Given the description of an element on the screen output the (x, y) to click on. 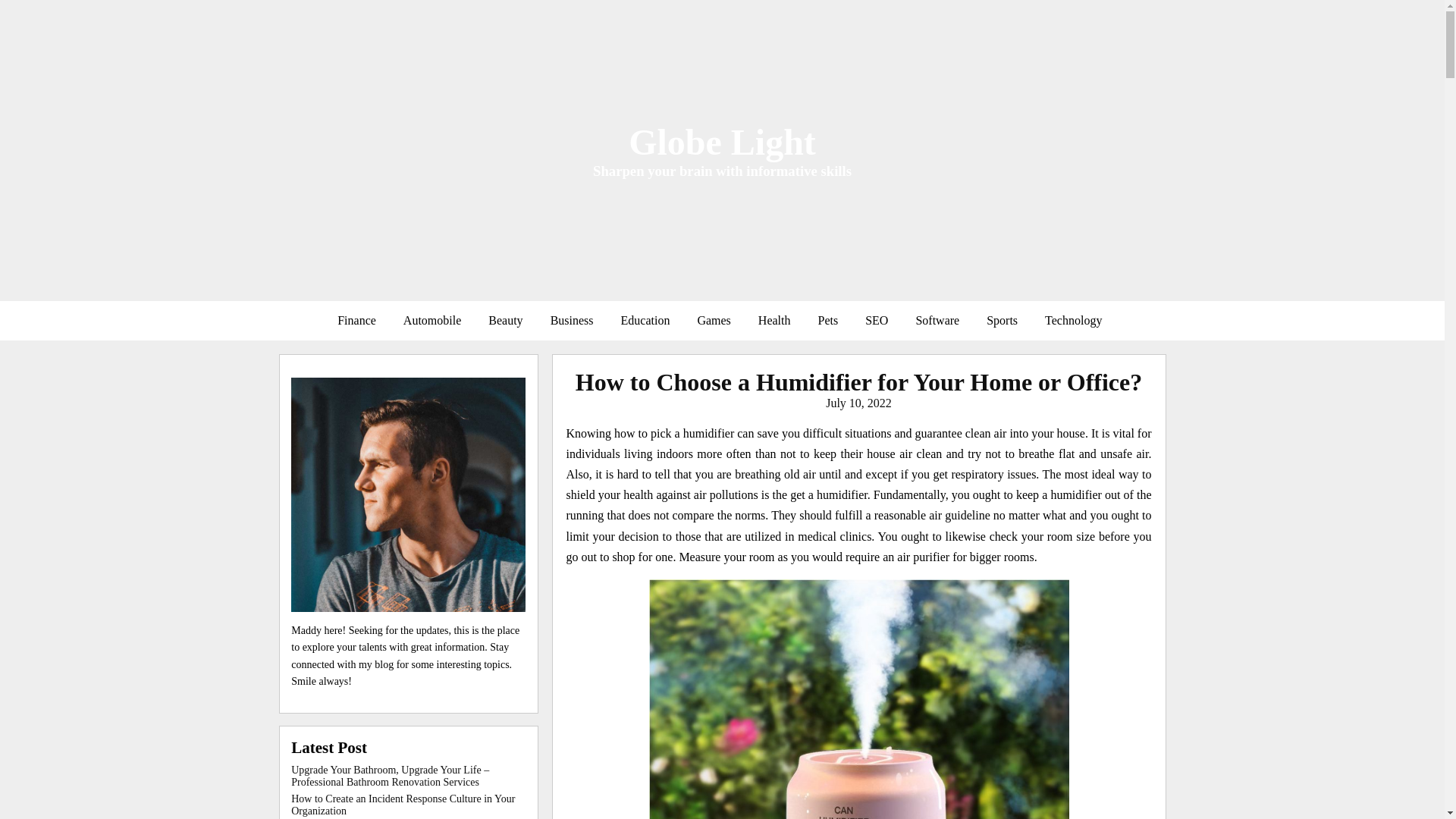
July 10, 2022 (858, 402)
Business (571, 320)
Automobile (432, 320)
SEO (876, 320)
How to Choose a Humidifier for Your Home or Office? (858, 381)
Health (774, 320)
Education (645, 320)
Pets (827, 320)
Sports (1001, 320)
Games (713, 320)
Finance (356, 320)
Beauty (505, 320)
Technology (1072, 320)
Software (936, 320)
Globe Light (721, 142)
